Given the description of an element on the screen output the (x, y) to click on. 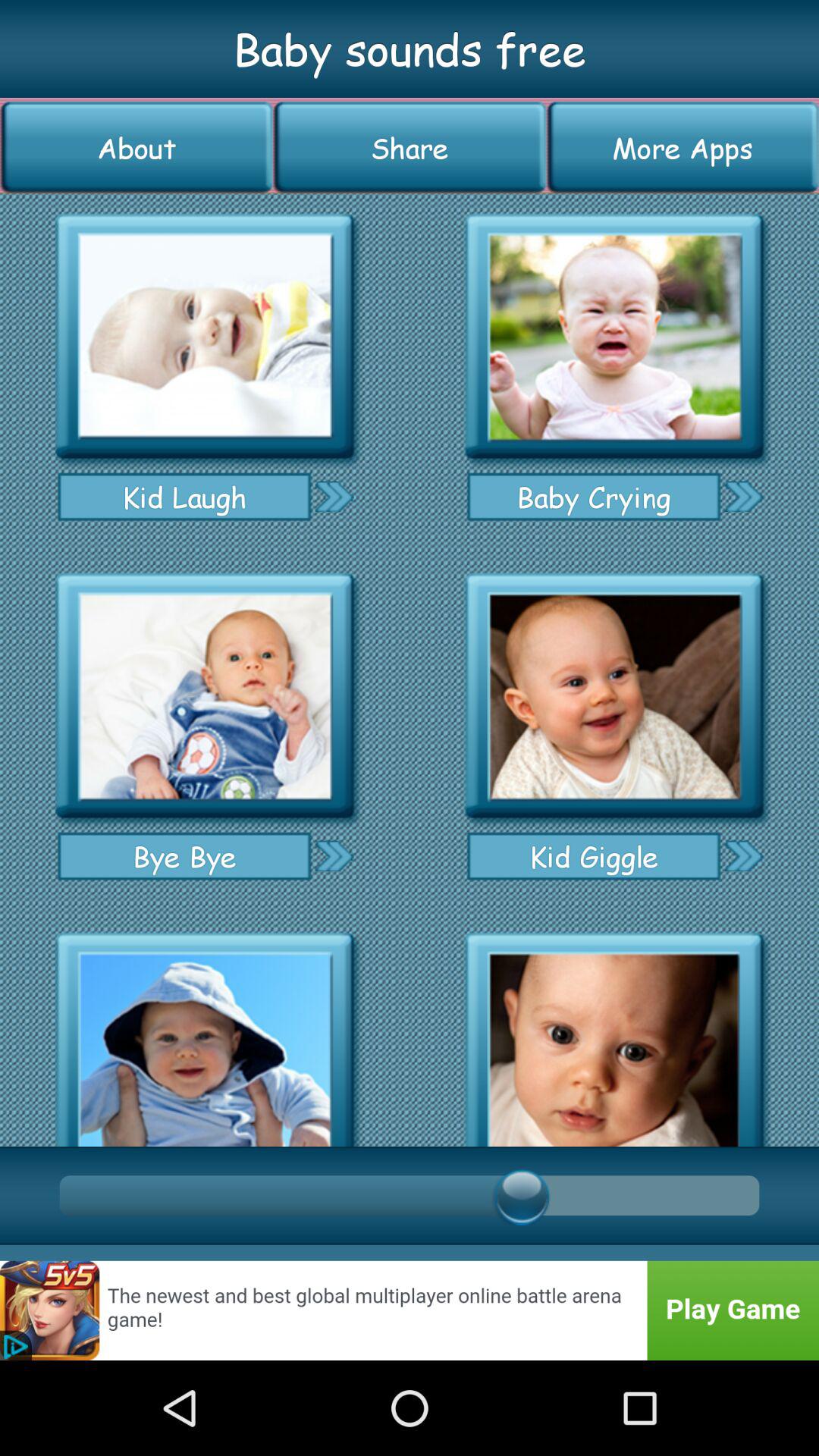
app advertisement option (613, 696)
